Given the description of an element on the screen output the (x, y) to click on. 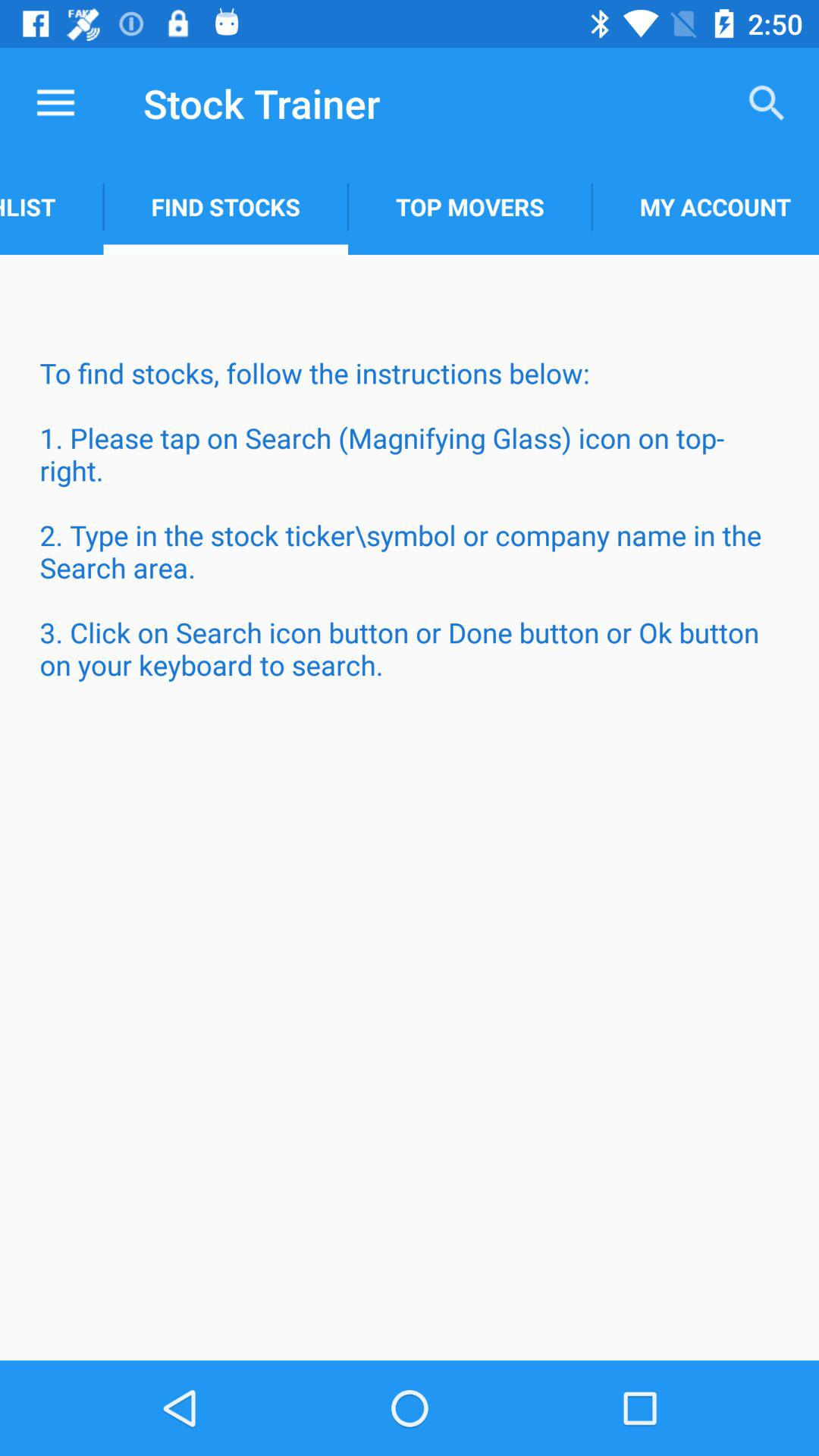
turn off item next to stock trainer icon (55, 103)
